Given the description of an element on the screen output the (x, y) to click on. 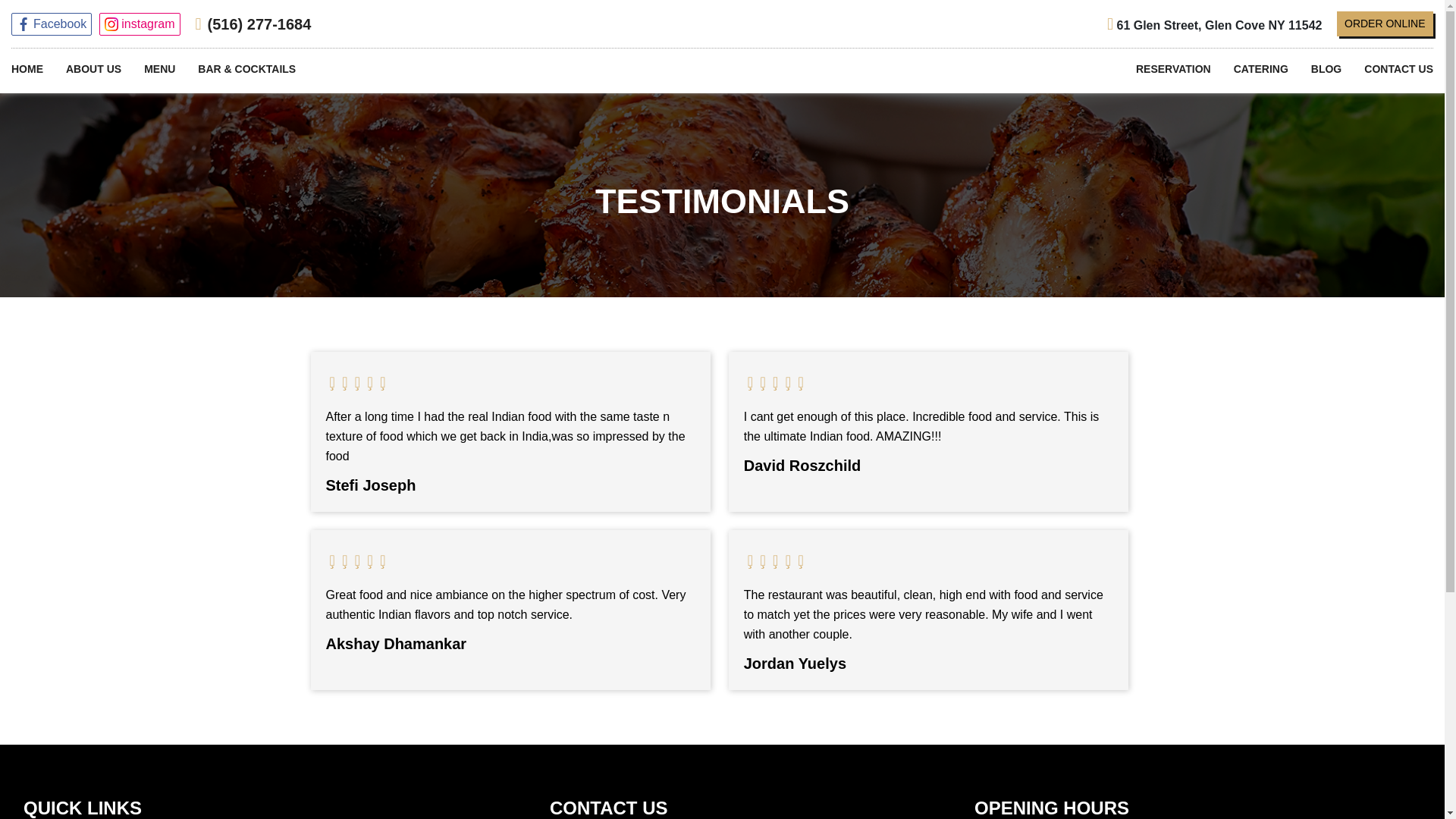
RESERVATION (1173, 69)
HOME (27, 69)
Facebook (51, 23)
ORDER ONLINE (1384, 23)
BLOG (1325, 69)
CATERING (1260, 69)
CONTACT US (1398, 69)
instagram (139, 23)
ABOUT US (92, 69)
MENU (159, 69)
